Given the description of an element on the screen output the (x, y) to click on. 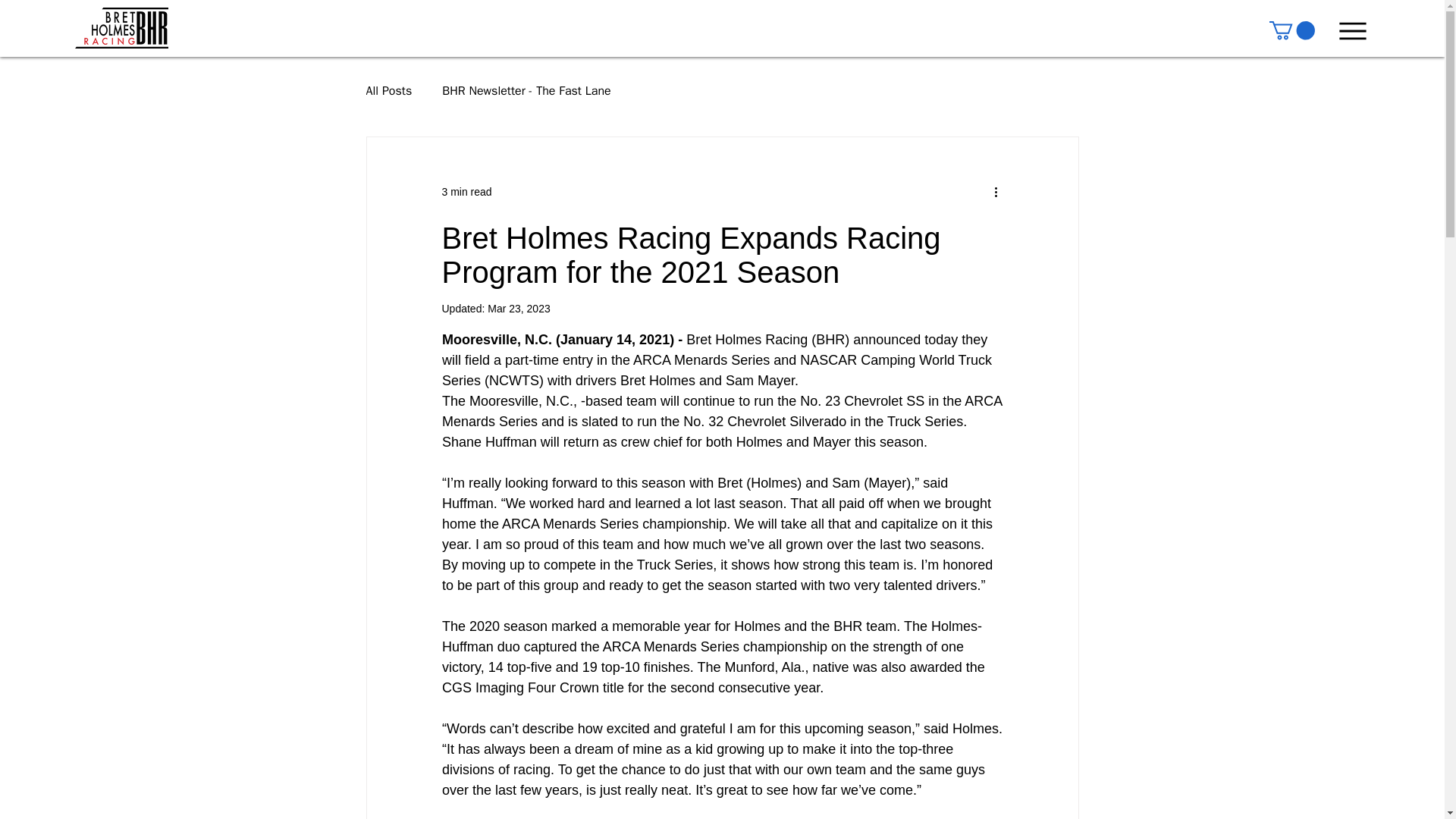
All Posts (388, 91)
BHR Newsletter - The Fast Lane (526, 91)
Mar 23, 2023 (518, 308)
3 min read (466, 191)
